Given the description of an element on the screen output the (x, y) to click on. 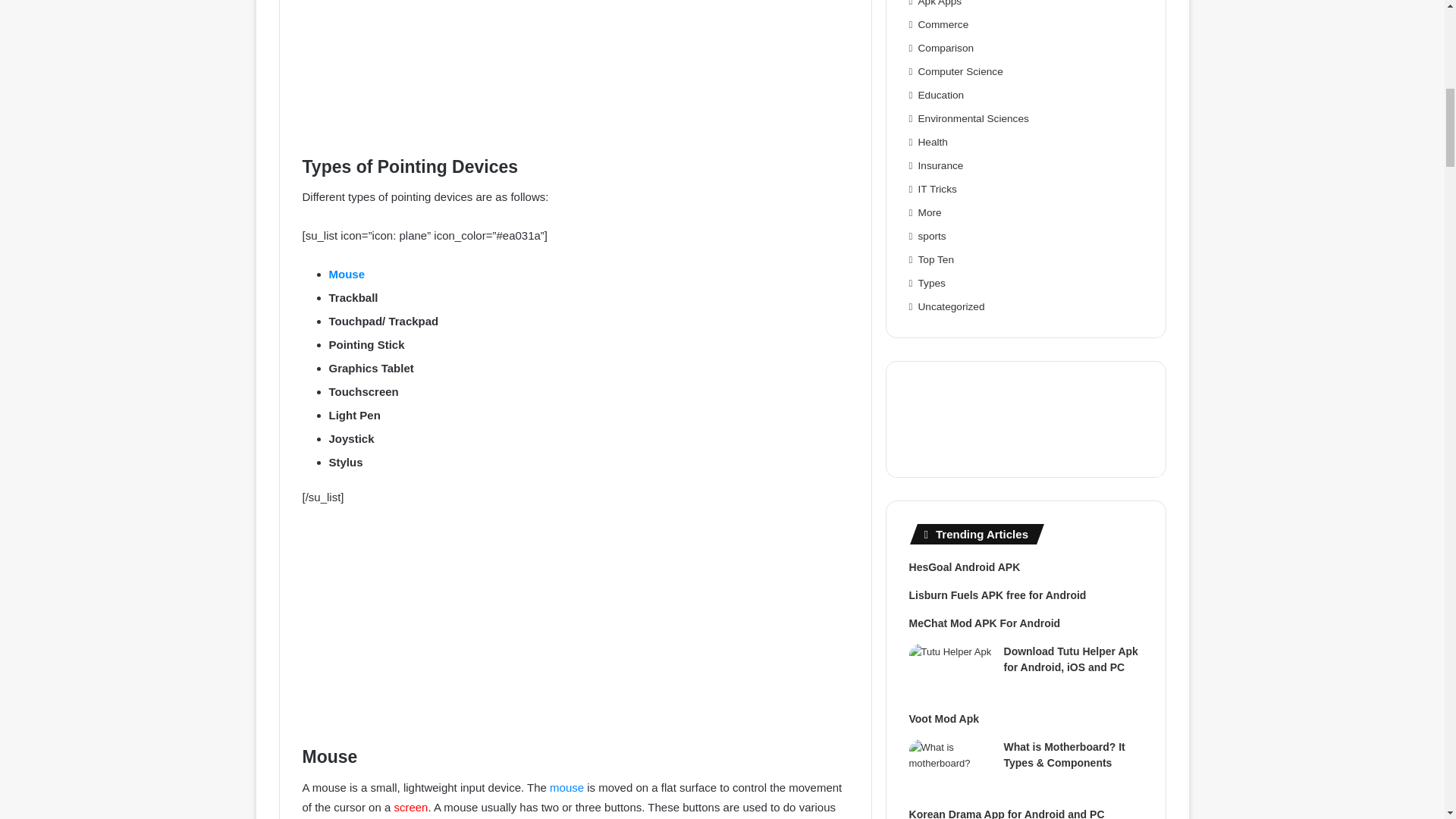
mouse (566, 787)
Mouse (347, 273)
